Given the description of an element on the screen output the (x, y) to click on. 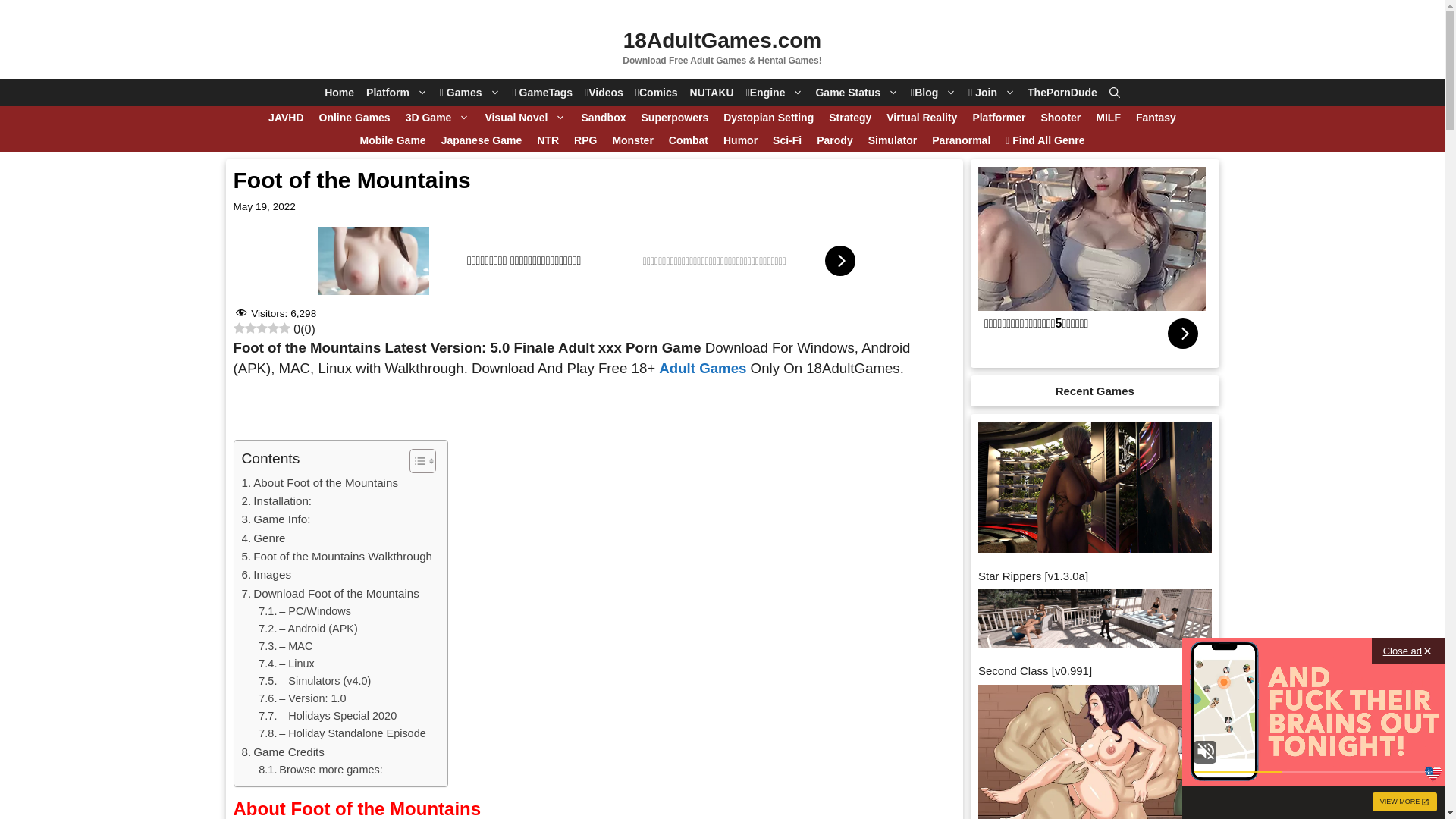
Visual Novel Element type: text (524, 117)
Paranormal Element type: text (960, 139)
Sci-Fi Element type: text (787, 139)
Installation: Element type: text (276, 501)
Japanese Game Element type: text (481, 139)
NUTAKU Element type: text (712, 92)
Platform Element type: text (396, 92)
NTR Element type: text (547, 139)
MILF Element type: text (1108, 117)
Shooter Element type: text (1060, 117)
Online Games Element type: text (354, 117)
Combat Element type: text (688, 139)
ThePornDude Element type: text (1062, 92)
Game Status Element type: text (856, 92)
Browse more games: Element type: text (320, 769)
Star Rippers [v1.3.0a] Element type: text (1033, 575)
Adult Games Element type: text (702, 367)
Parody Element type: text (834, 139)
Home Element type: text (339, 92)
Game Credits Element type: text (282, 752)
Mobile Game Element type: text (392, 139)
Images Element type: text (266, 574)
Virtual Reality Element type: text (921, 117)
Sandbox Element type: text (603, 117)
Strategy Element type: text (849, 117)
Foot of the Mountains Walkthrough Element type: text (336, 556)
Fantasy Element type: text (1155, 117)
RPG Element type: text (585, 139)
Download Foot of the Mountains Element type: text (329, 593)
18AdultGames.com Element type: text (722, 40)
Superpowers Element type: text (674, 117)
JAVHD Element type: text (285, 117)
Humor Element type: text (740, 139)
3D Game Element type: text (437, 117)
About Foot of the Mountains Element type: text (319, 482)
Game Info: Element type: text (275, 519)
Monster Element type: text (632, 139)
Genre Element type: text (263, 538)
Platformer Element type: text (998, 117)
Dystopian Setting Element type: text (768, 117)
Simulator Element type: text (892, 139)
Second Class [v0.991] Element type: text (1035, 670)
